Given the description of an element on the screen output the (x, y) to click on. 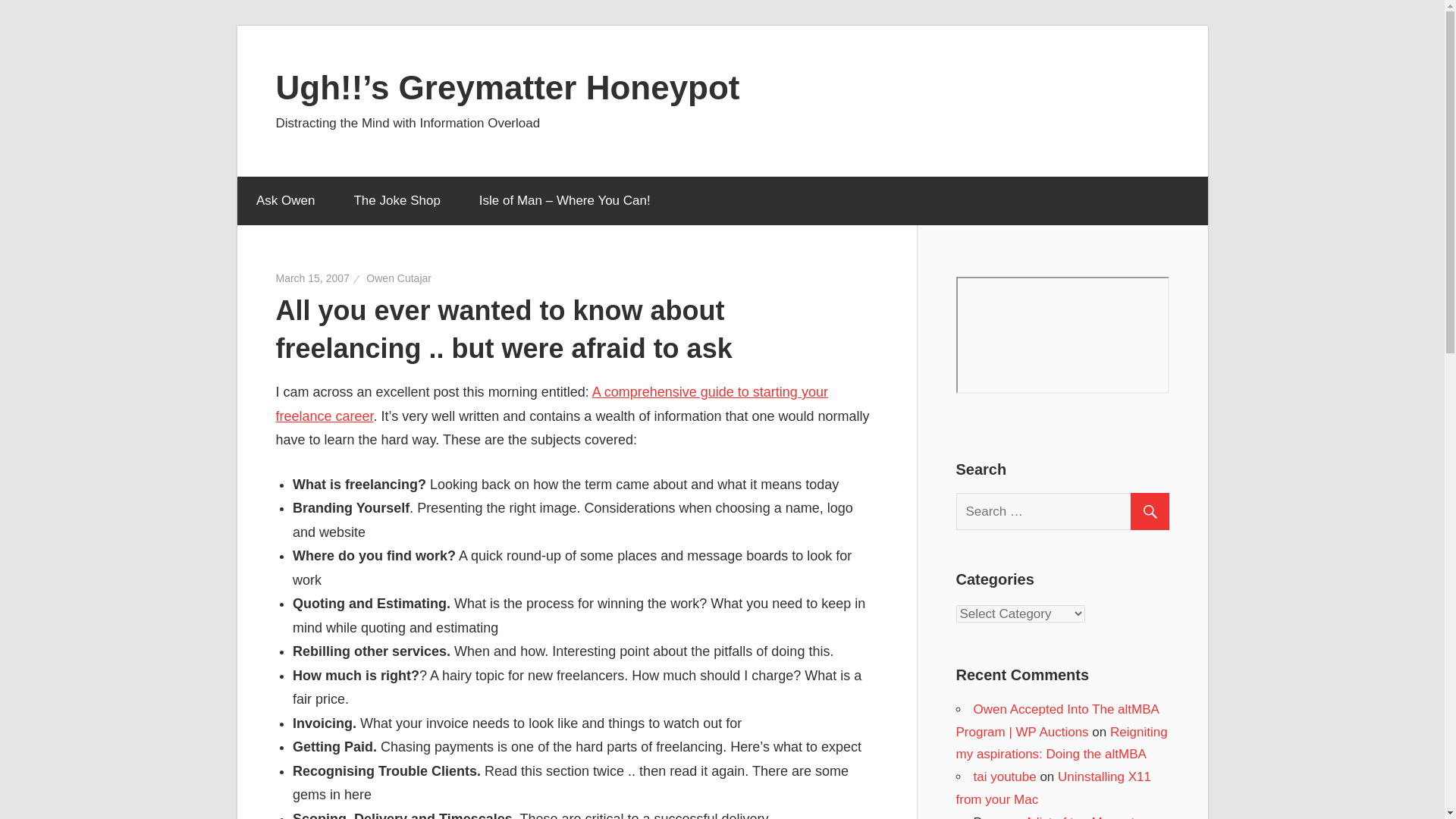
March 15, 2007 (312, 277)
A list of top Magento plugins (1048, 816)
tai youtube (1005, 776)
View all posts by Owen Cutajar (398, 277)
A comprehensive guide to starting your freelance career (552, 404)
Reigniting my aspirations: Doing the altMBA (1061, 743)
Ask Owen (284, 200)
Search for: (1068, 511)
Uninstalling X11 from your Mac (1052, 787)
7:26 am (312, 277)
The Joke Shop (397, 200)
Owen Cutajar (398, 277)
